Given the description of an element on the screen output the (x, y) to click on. 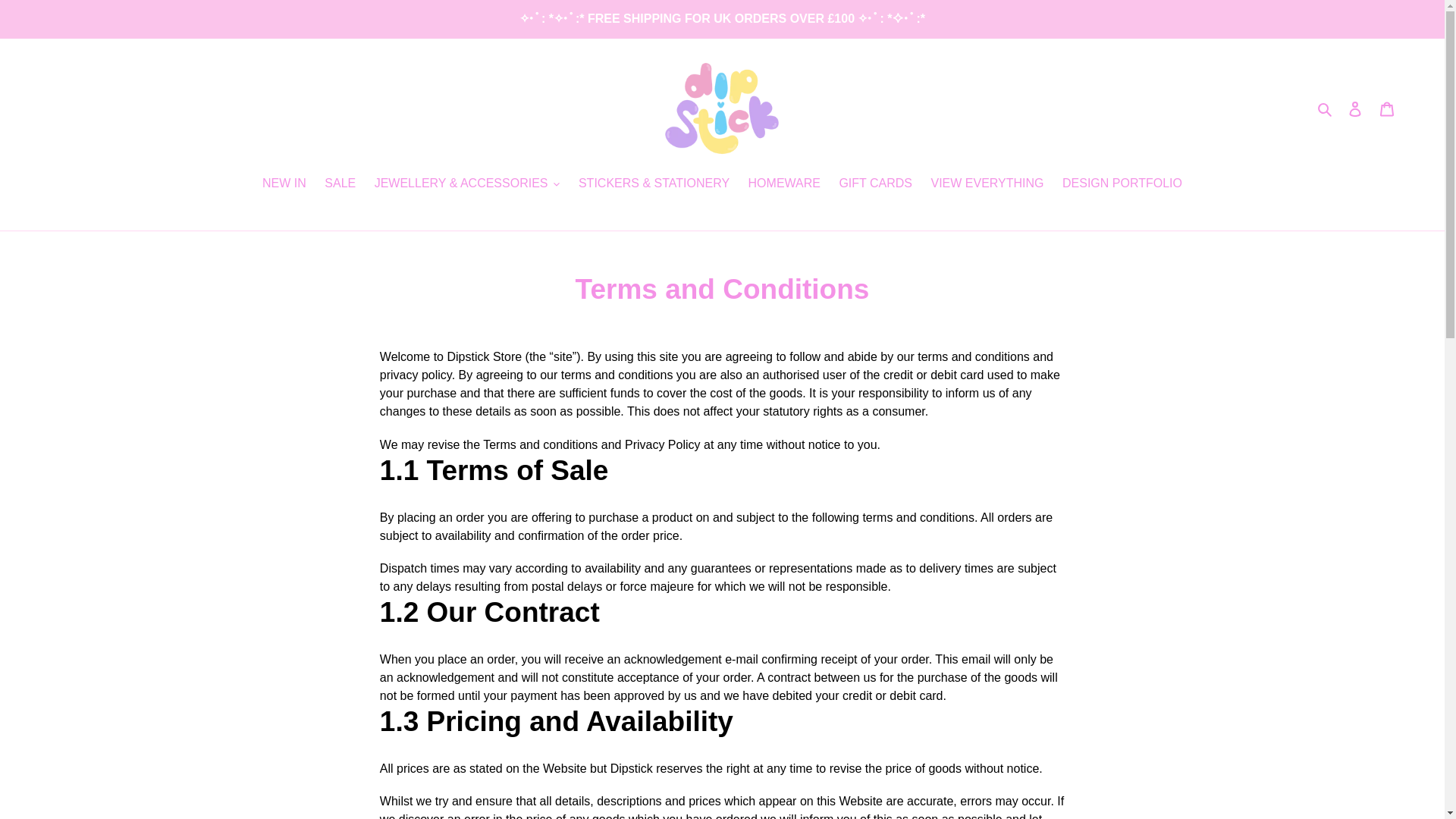
NEW IN (284, 184)
Search (1326, 107)
Log in (1355, 108)
DESIGN PORTFOLIO (1121, 184)
GIFT CARDS (875, 184)
VIEW EVERYTHING (987, 184)
HOMEWARE (784, 184)
SALE (339, 184)
Cart (1387, 108)
